Given the description of an element on the screen output the (x, y) to click on. 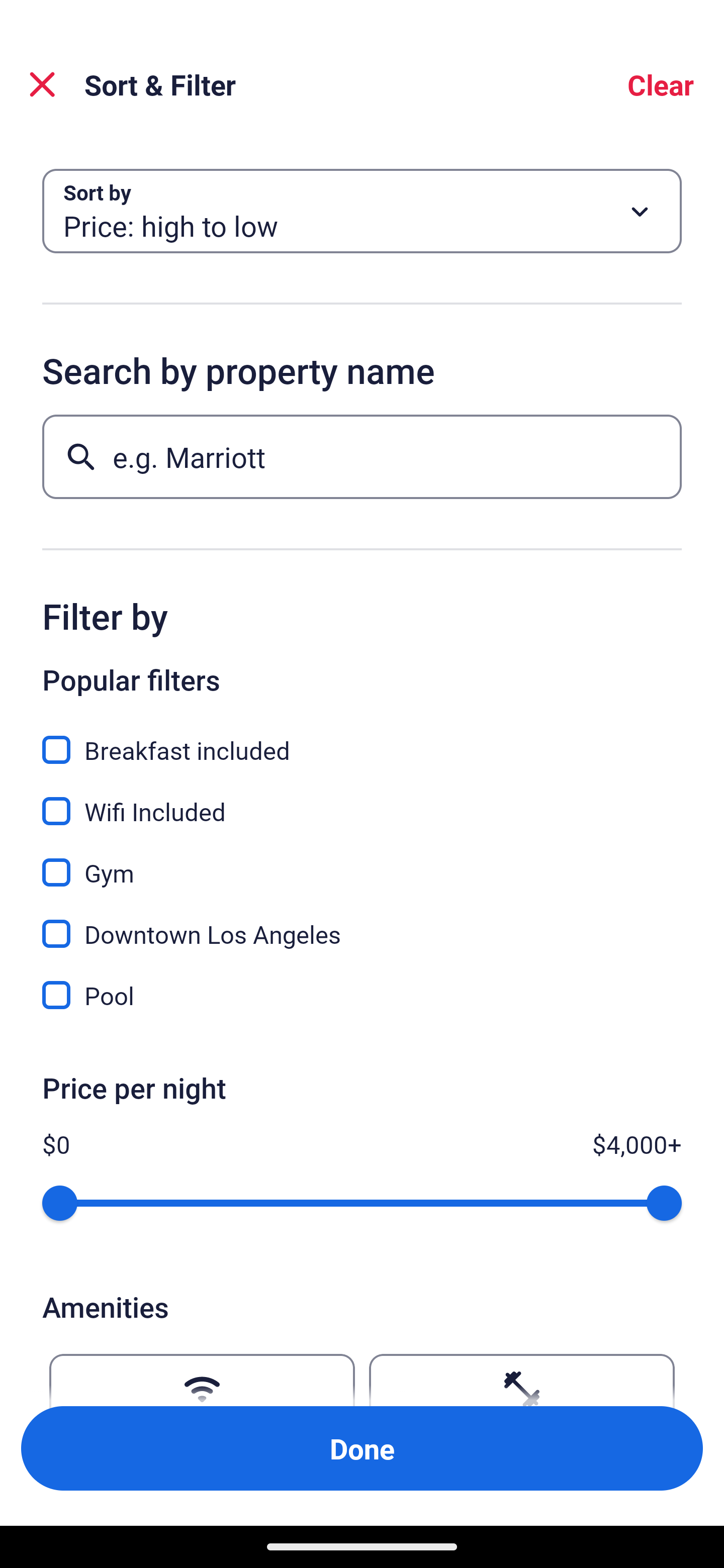
Close Sort and Filter (42, 84)
Clear (660, 84)
Sort by Button Price: high to low (361, 211)
e.g. Marriott Button (361, 455)
Breakfast included, Breakfast included (361, 738)
Wifi Included, Wifi Included (361, 800)
Gym, Gym (361, 861)
Downtown Los Angeles, Downtown Los Angeles (361, 922)
Pool, Pool (361, 995)
Apply and close Sort and Filter Done (361, 1448)
